Given the description of an element on the screen output the (x, y) to click on. 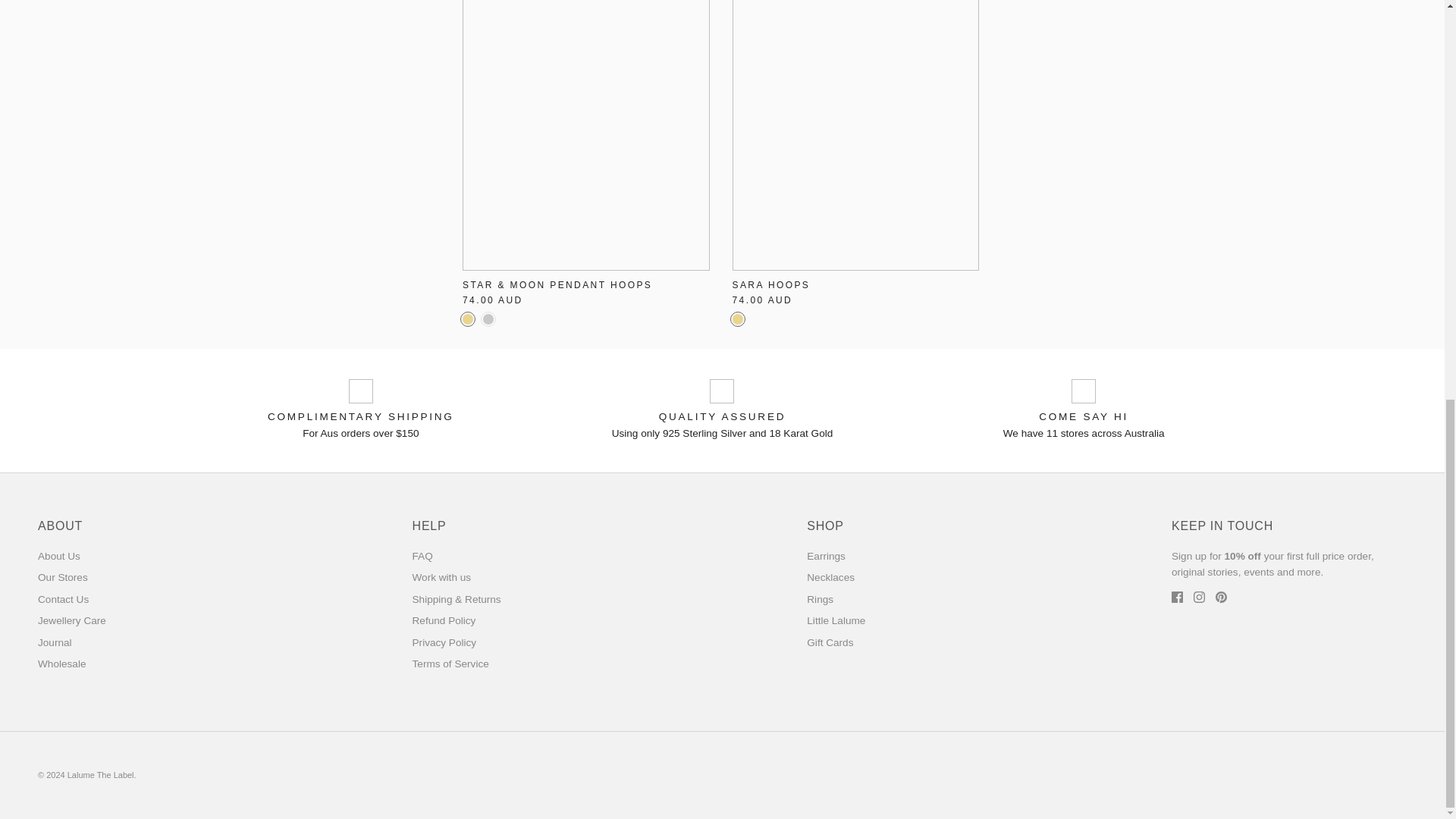
Pinterest (1221, 596)
Facebook (1177, 596)
Instagram (1199, 596)
